Given the description of an element on the screen output the (x, y) to click on. 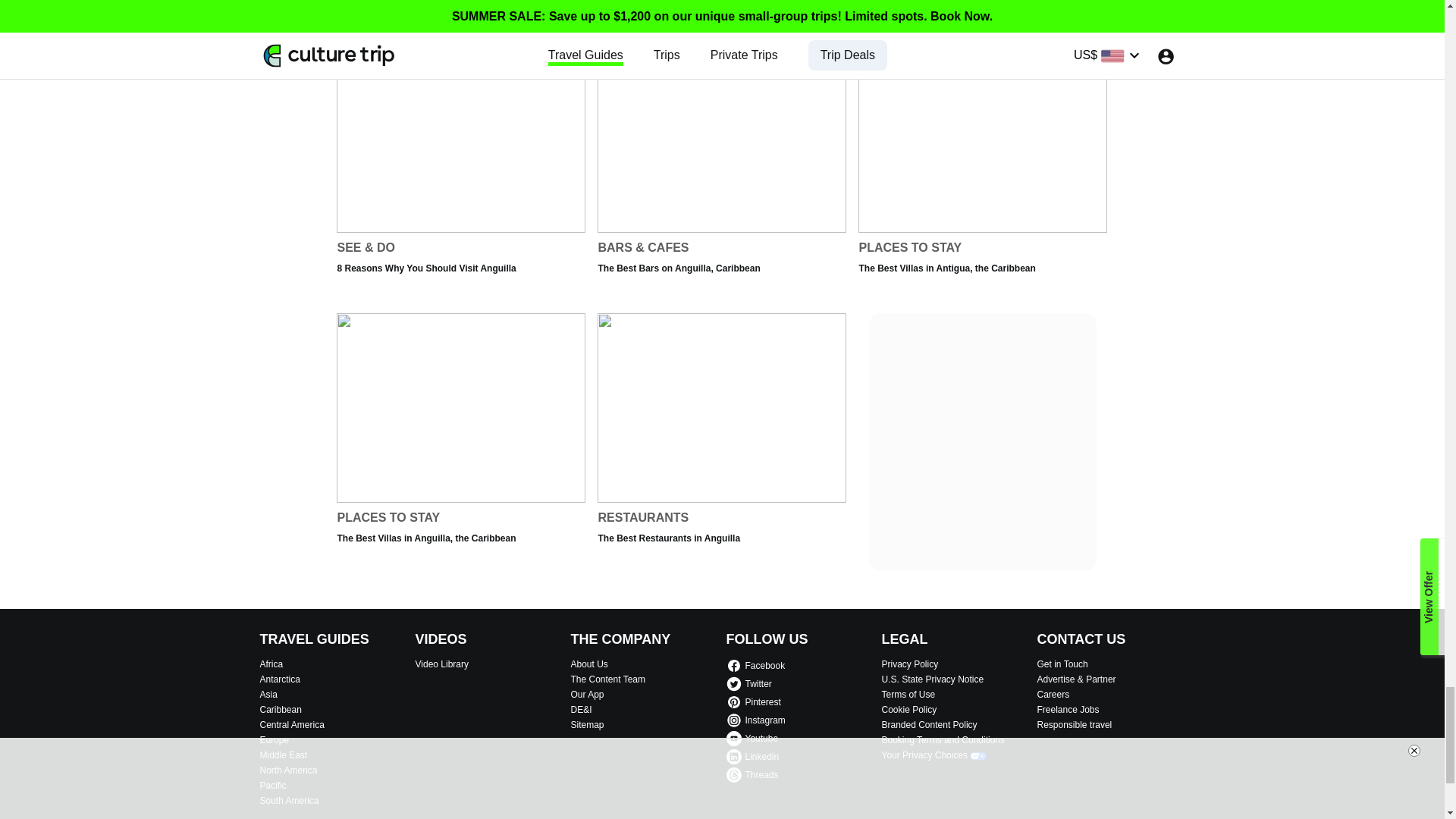
Europe (333, 739)
Antarctica (333, 679)
Central America (720, 441)
Asia (982, 172)
Africa (333, 725)
Caribbean (333, 694)
Middle East (333, 664)
